Given the description of an element on the screen output the (x, y) to click on. 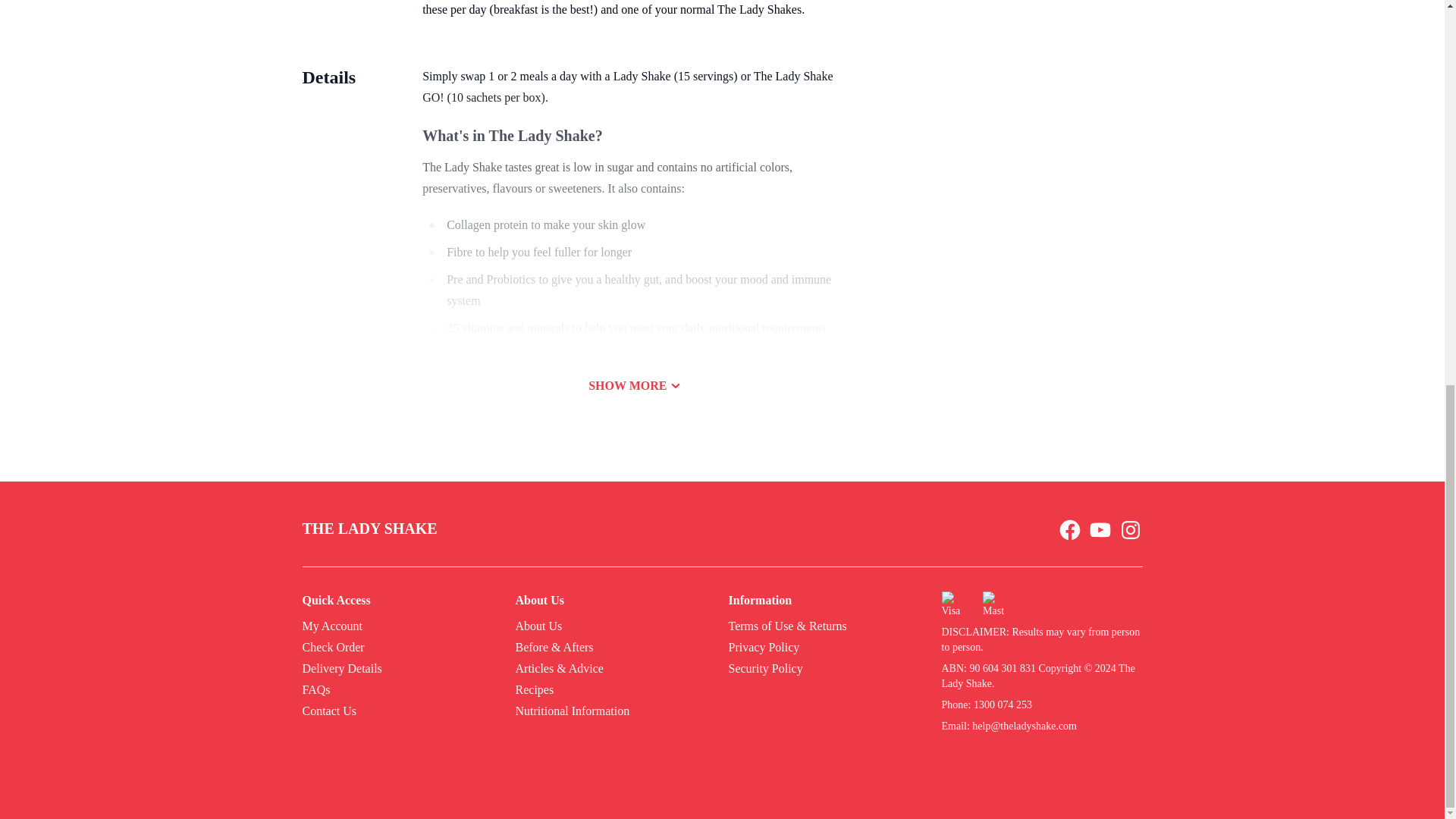
Check Order (332, 647)
My Account (331, 626)
